Given the description of an element on the screen output the (x, y) to click on. 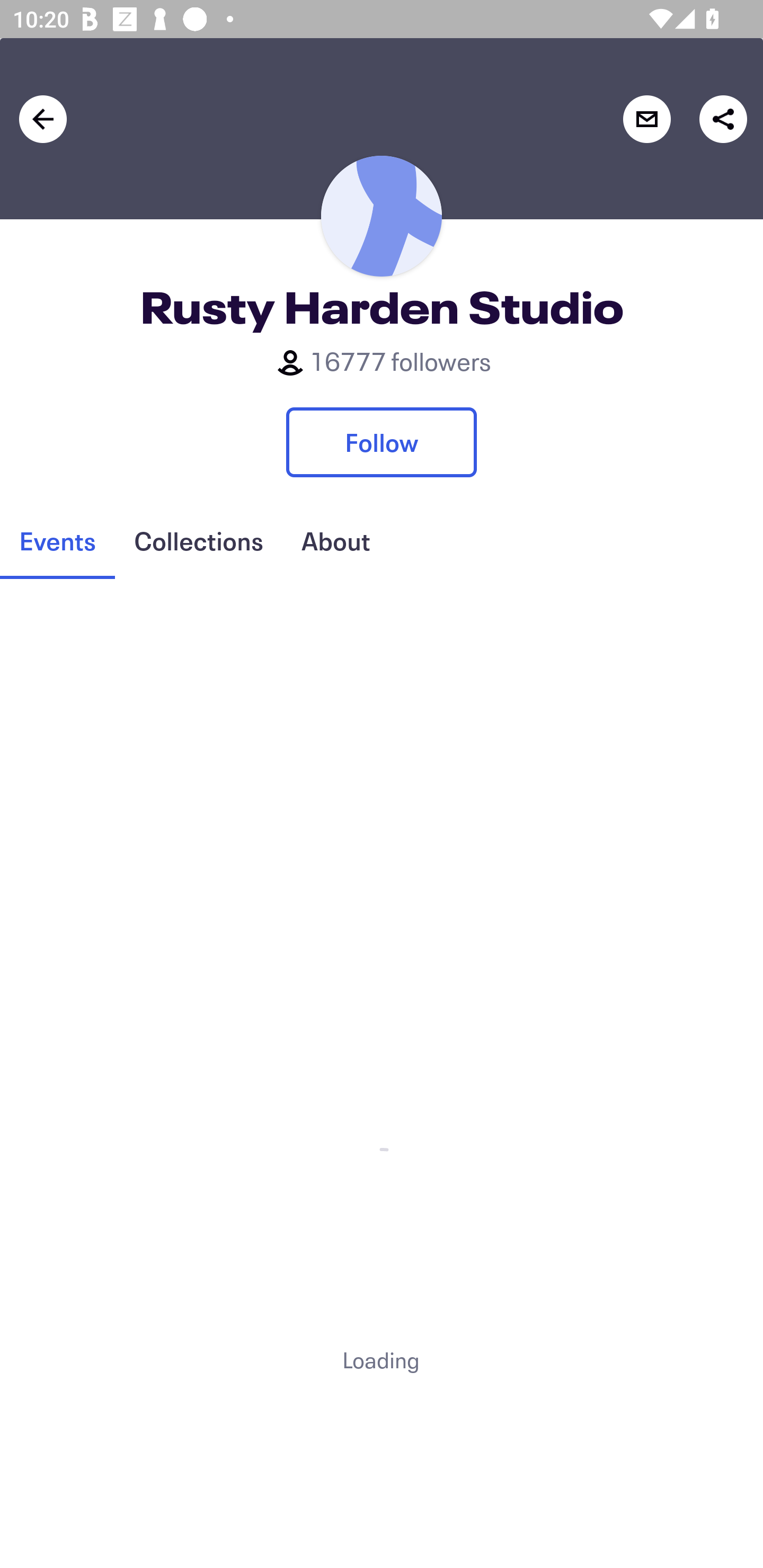
Back navigation arrow (43, 118)
Contact organizer (646, 118)
Share with friends (722, 118)
Follow (381, 441)
Collections (198, 540)
About (335, 540)
